Given the description of an element on the screen output the (x, y) to click on. 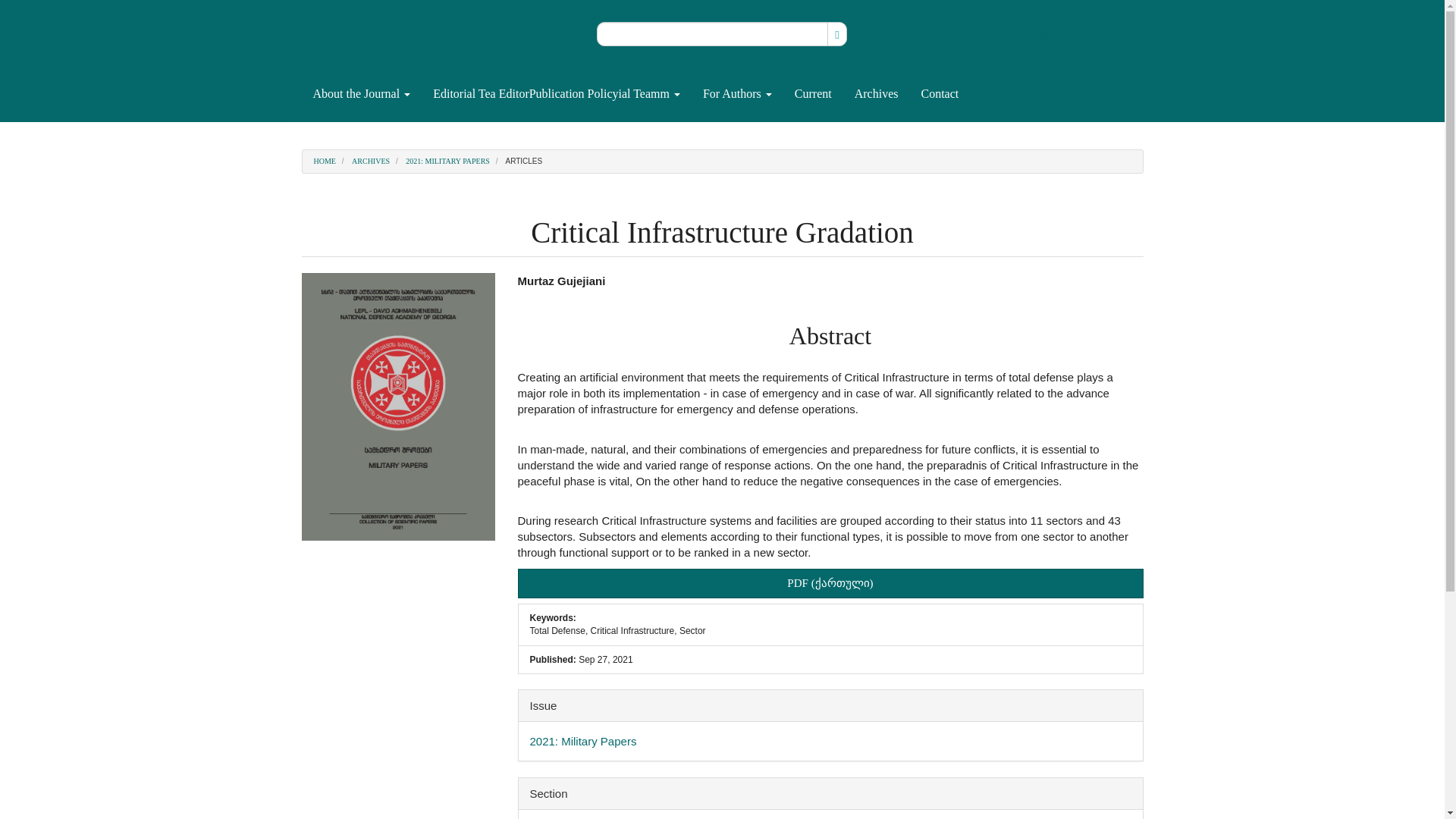
Archives (876, 94)
ARCHIVES (371, 161)
HOME (325, 161)
2021: Military Papers (582, 740)
2021: MILITARY PAPERS (447, 161)
English (1046, 33)
Military Papers (345, 33)
Login (981, 33)
About the Journal (361, 94)
For Authors (737, 94)
Editorial Tea EditorPublication Policyial Teamm (556, 94)
Current (813, 94)
Contact (938, 94)
Register (923, 33)
